Given the description of an element on the screen output the (x, y) to click on. 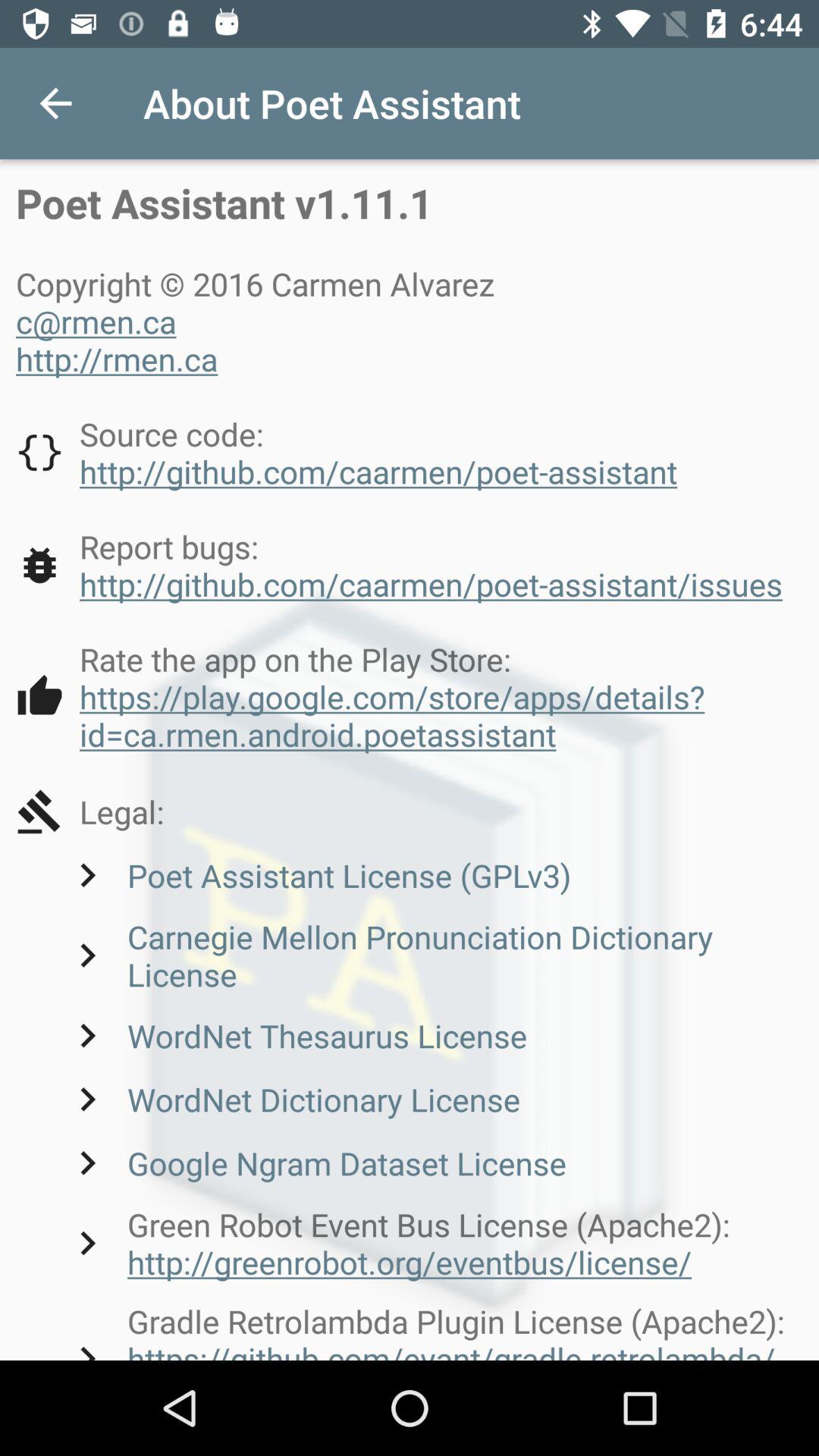
scroll to the rate the app item (409, 696)
